Given the description of an element on the screen output the (x, y) to click on. 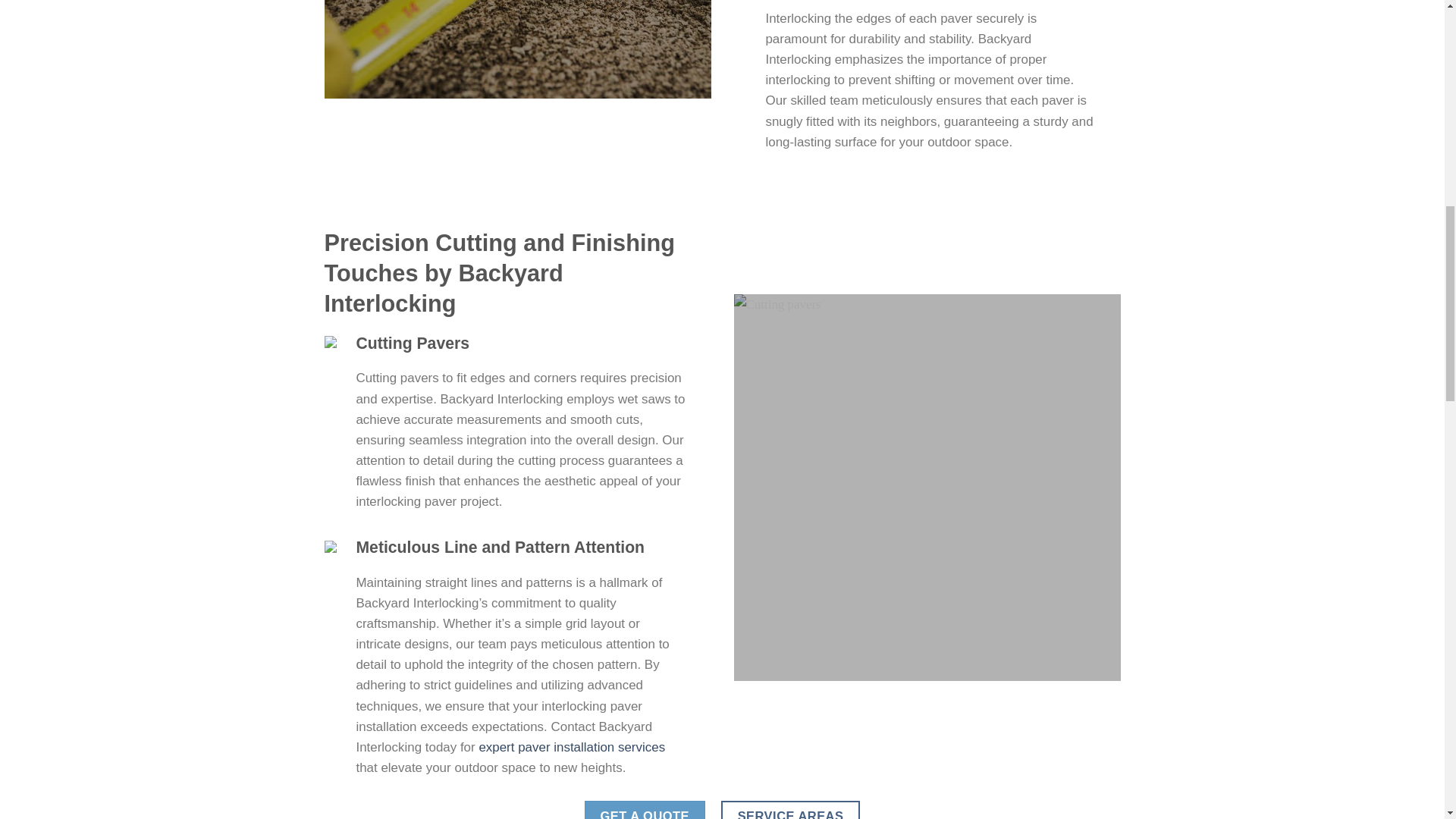
GET A QUOTE (644, 809)
SERVICE AREAS (790, 809)
expert paver installation services (572, 747)
